Given the description of an element on the screen output the (x, y) to click on. 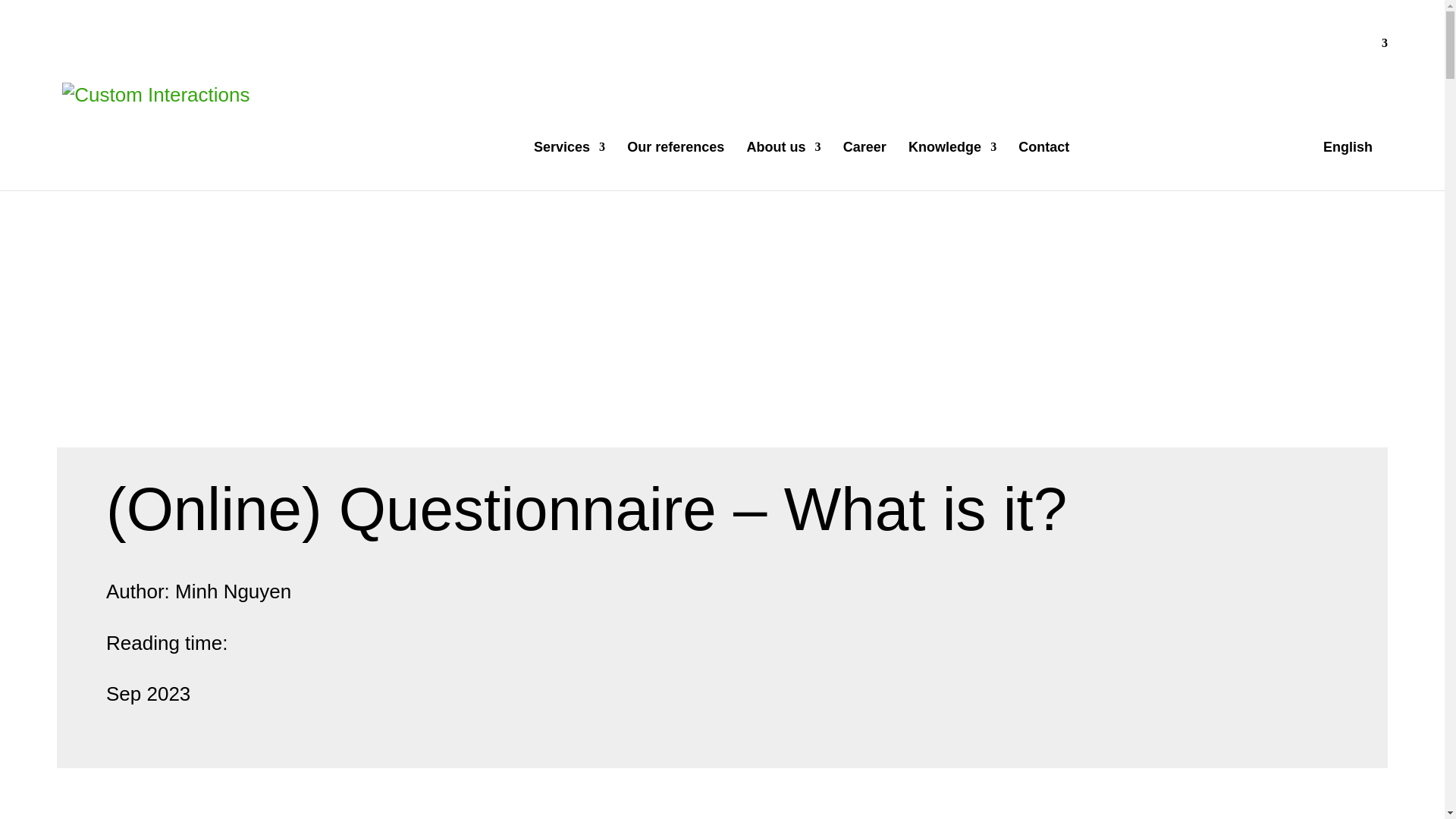
Contact (1042, 165)
Our references (675, 165)
English (1239, 113)
About us (783, 165)
Knowledge (951, 165)
Services (569, 165)
English (1239, 113)
Career (864, 165)
